Given the description of an element on the screen output the (x, y) to click on. 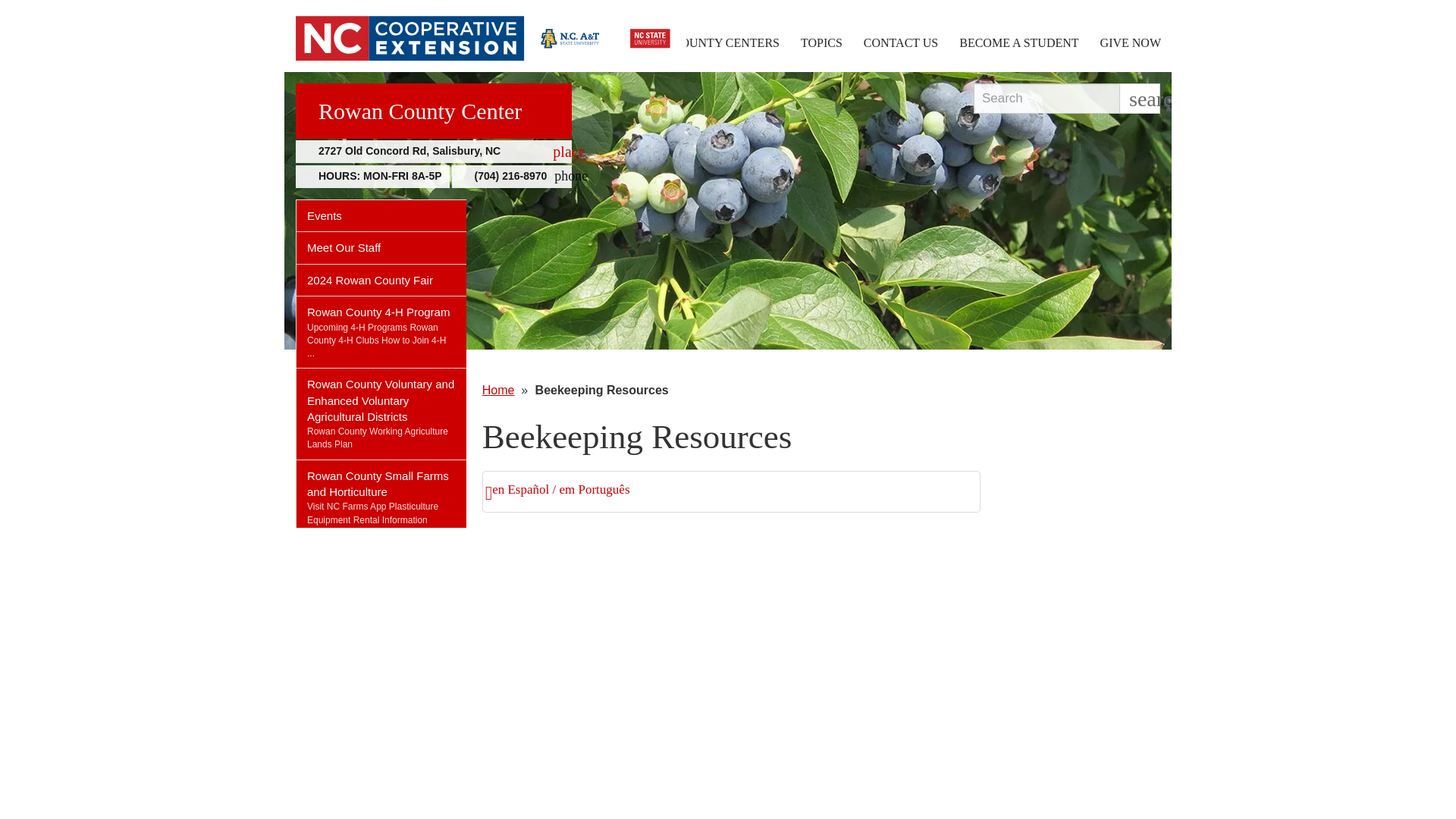
How to Join 4-H (376, 346)
Upcoming 4-H Programs (357, 327)
Events (381, 214)
Rowan County 4-H Program (381, 308)
Rowan County Center (433, 110)
Rowan County Small Farms and Horticulture (381, 480)
Plasticulture Equipment Rental Information (433, 151)
Rowan County Working Agriculture Lands Plan (372, 512)
Skip to main content (377, 437)
